Given the description of an element on the screen output the (x, y) to click on. 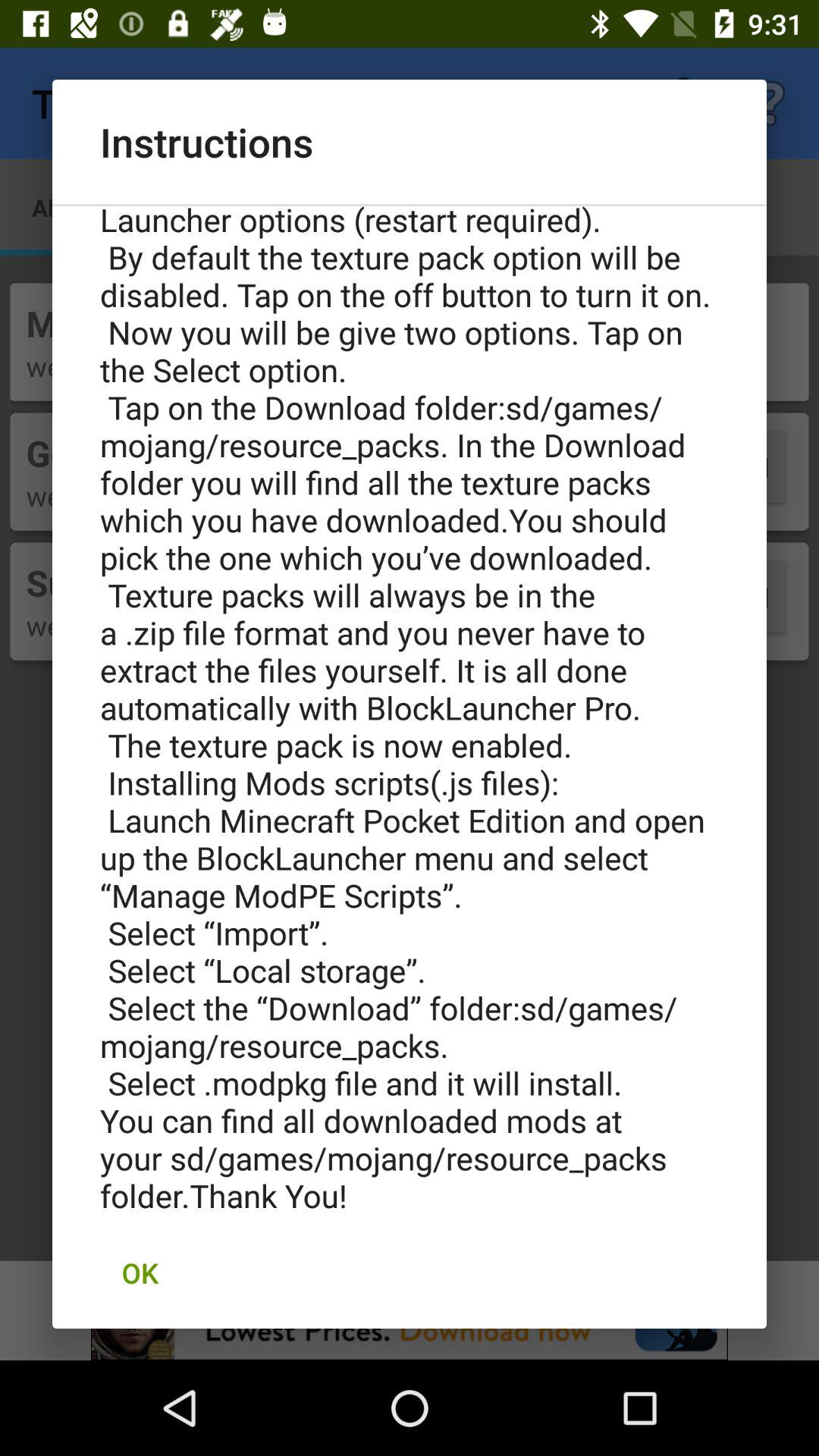
scroll to the ok item (139, 1272)
